Given the description of an element on the screen output the (x, y) to click on. 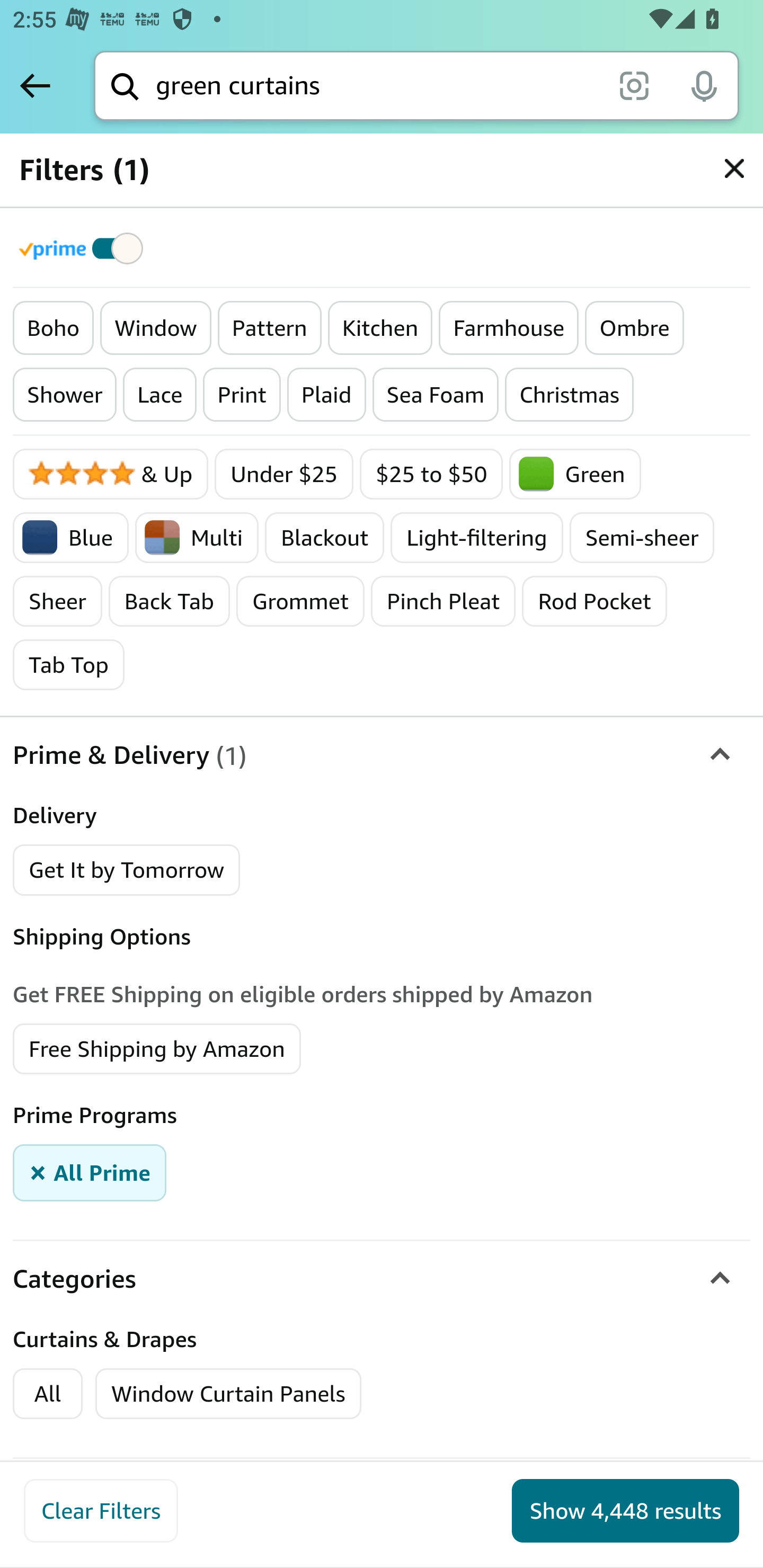
Back (35, 85)
scan it (633, 85)
Toggle to filter by Prime products Prime Eligible (83, 247)
Boho (53, 328)
Window (155, 328)
Pattern (268, 328)
Kitchen (380, 328)
Farmhouse (508, 328)
Ombre (635, 328)
Shower (64, 394)
Lace (159, 394)
Print (241, 394)
Plaid (326, 394)
Sea Foam (435, 394)
Christmas (568, 394)
4 Stars & Up (110, 474)
Under $25 (284, 474)
$25 to $50 (431, 474)
Green Green Green Green (575, 474)
Blue Blue Blue Blue (71, 537)
Multi Multi Multi Multi (197, 537)
Blackout (323, 537)
Light-filtering (476, 537)
Semi-sheer (642, 537)
Sheer (57, 601)
Back Tab (169, 601)
Grommet (300, 601)
Pinch Pleat (443, 601)
Rod Pocket (594, 601)
Tab Top (68, 664)
Prime & Delivery (1) (381, 755)
Get It by Tomorrow (126, 869)
Free Shipping by Amazon (157, 1048)
× All Prime × All Prime (89, 1172)
Categories (381, 1278)
All (47, 1393)
Window Curtain Panels (228, 1393)
Clear Filters (100, 1510)
Show 4,448 results (625, 1510)
